Given the description of an element on the screen output the (x, y) to click on. 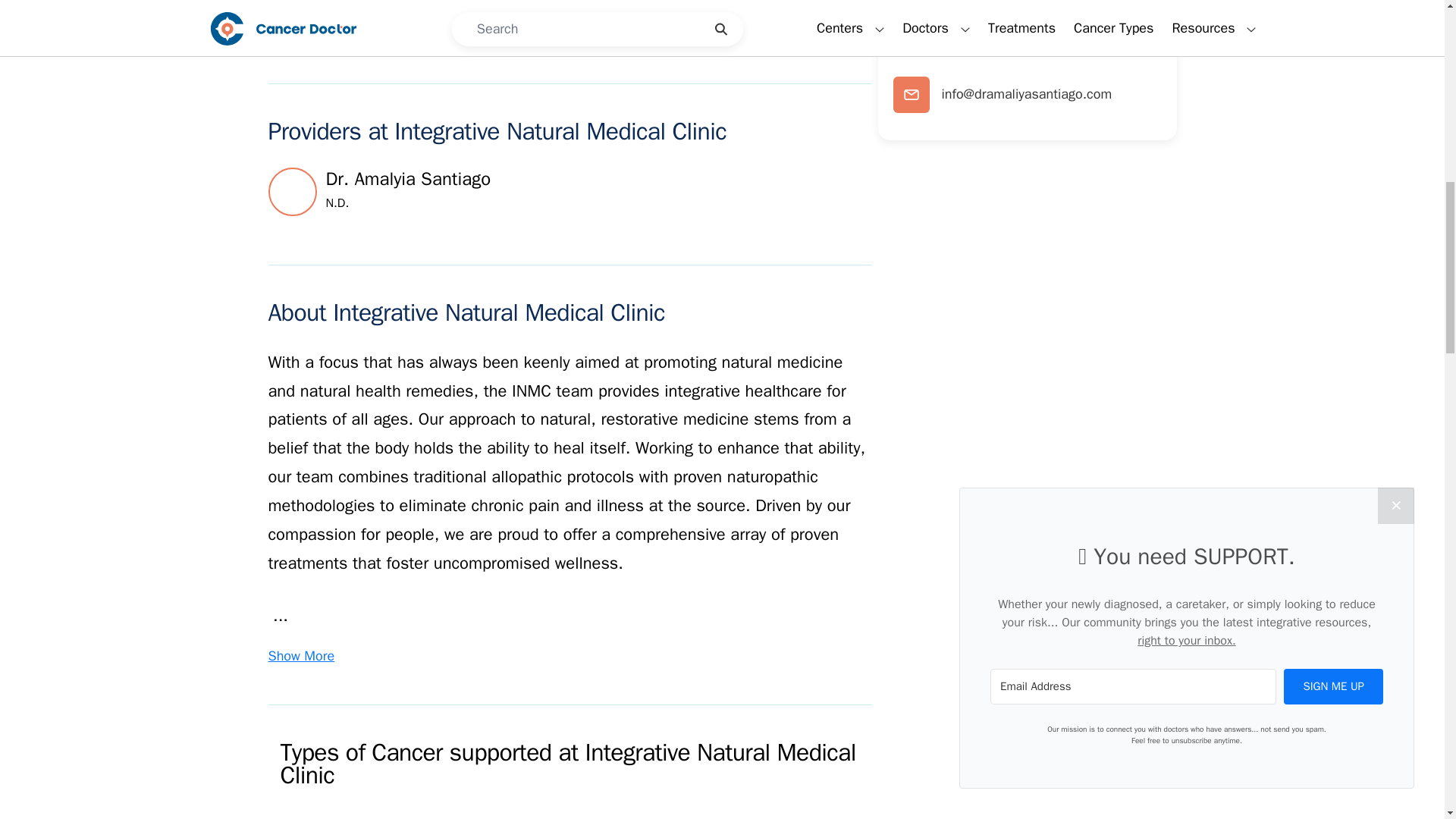
Show More (300, 656)
Get Directions (310, 22)
